Given the description of an element on the screen output the (x, y) to click on. 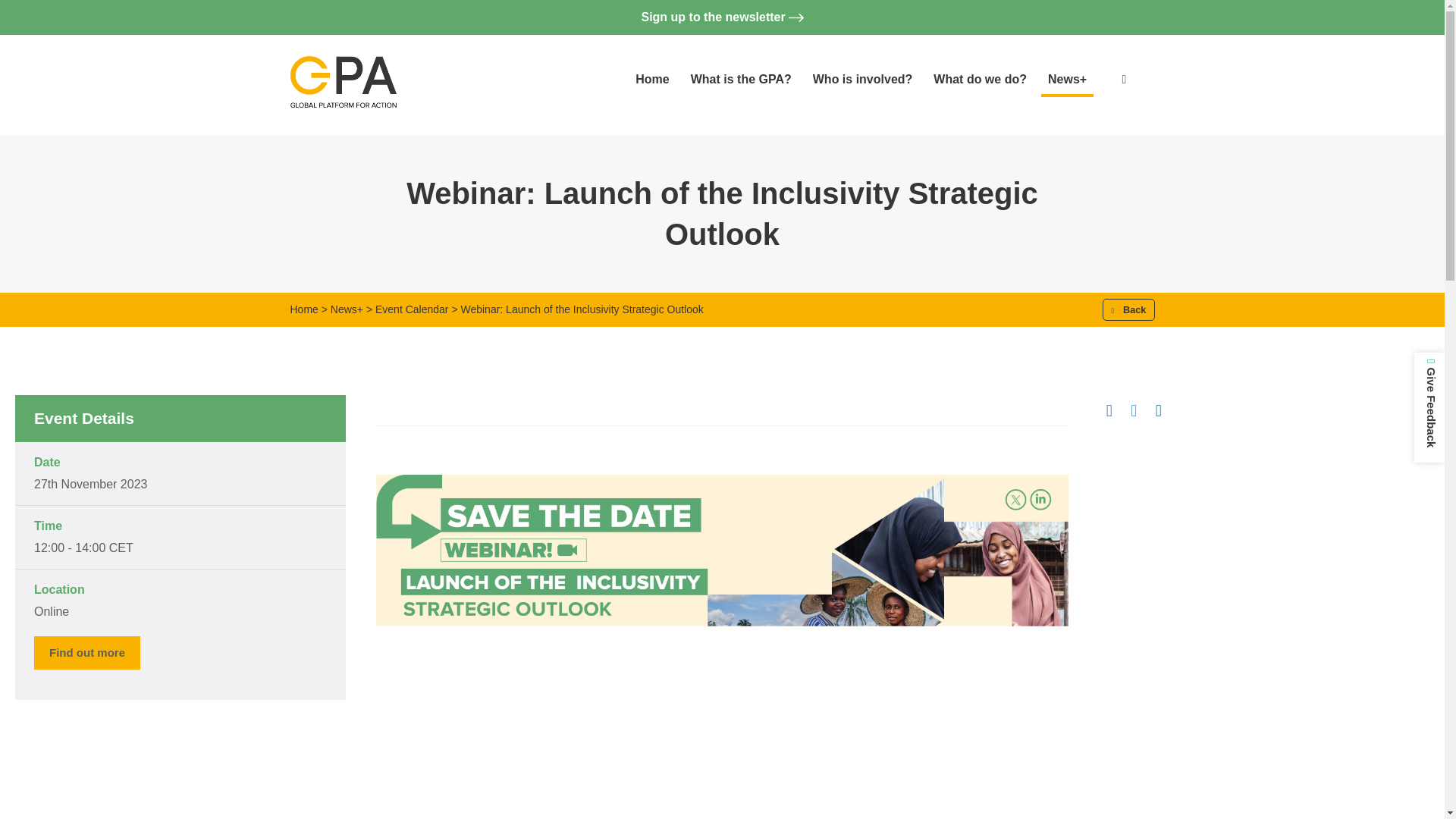
Home (651, 79)
Sign up to the newsletter (722, 17)
Who is involved? (863, 79)
Share on Linkedin (1158, 411)
What do we do? (979, 79)
Share on Facebook (1109, 411)
Share on Twitter (1133, 411)
Search website (1142, 79)
What is the GPA? (740, 79)
